Given the description of an element on the screen output the (x, y) to click on. 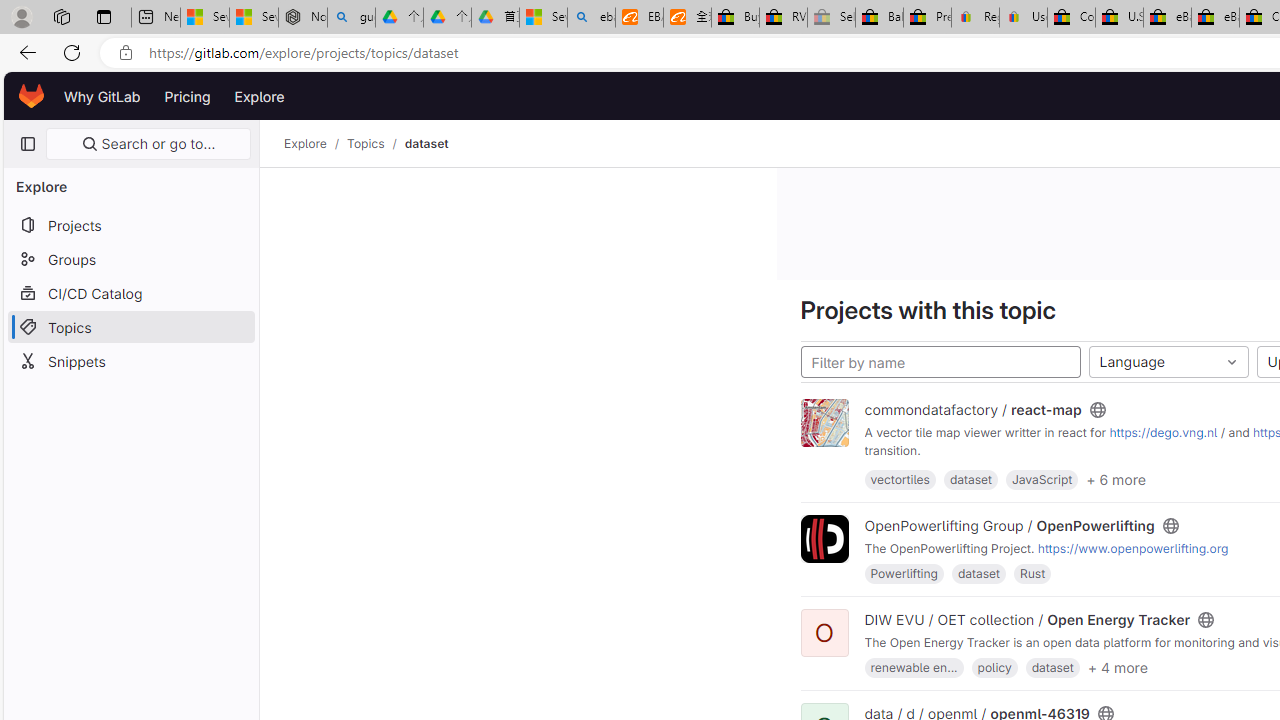
Powerlifting (904, 573)
JavaScript (1041, 479)
Buy Auto Parts & Accessories | eBay (735, 17)
Topics (365, 143)
View site information (125, 53)
Refresh (72, 52)
Topics (130, 326)
O (824, 633)
Baby Keepsakes & Announcements for sale | eBay (879, 17)
Back (24, 52)
https://www.openpowerlifting.org (1132, 548)
RV, Trailer & Camper Steps & Ladders for sale | eBay (783, 17)
Projects (130, 224)
